Given the description of an element on the screen output the (x, y) to click on. 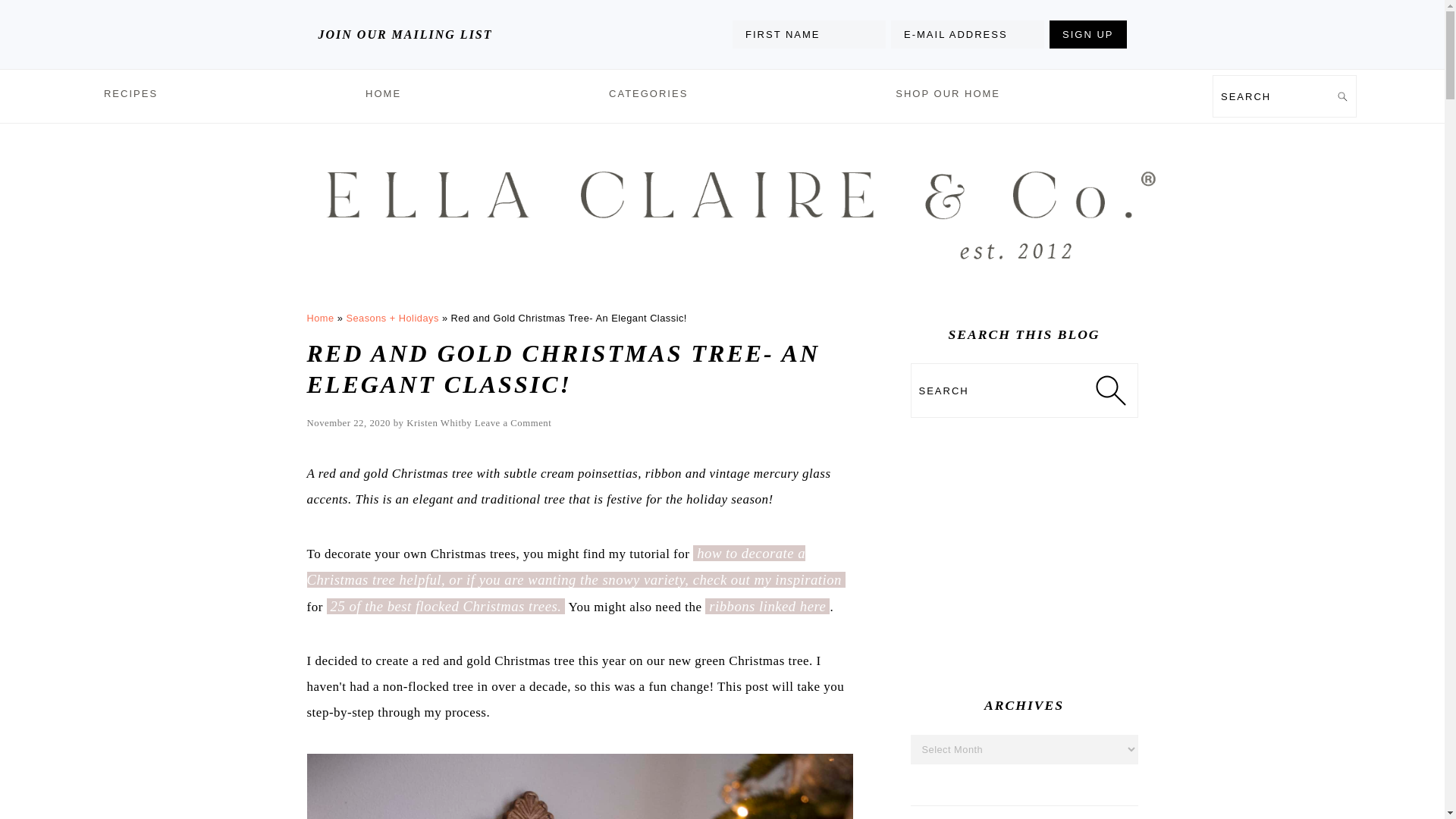
HOME (382, 94)
Sign Up (1087, 34)
Sign Up (1087, 34)
SHOP OUR HOME (947, 94)
RECIPES (130, 94)
CATEGORIES (647, 94)
